Given the description of an element on the screen output the (x, y) to click on. 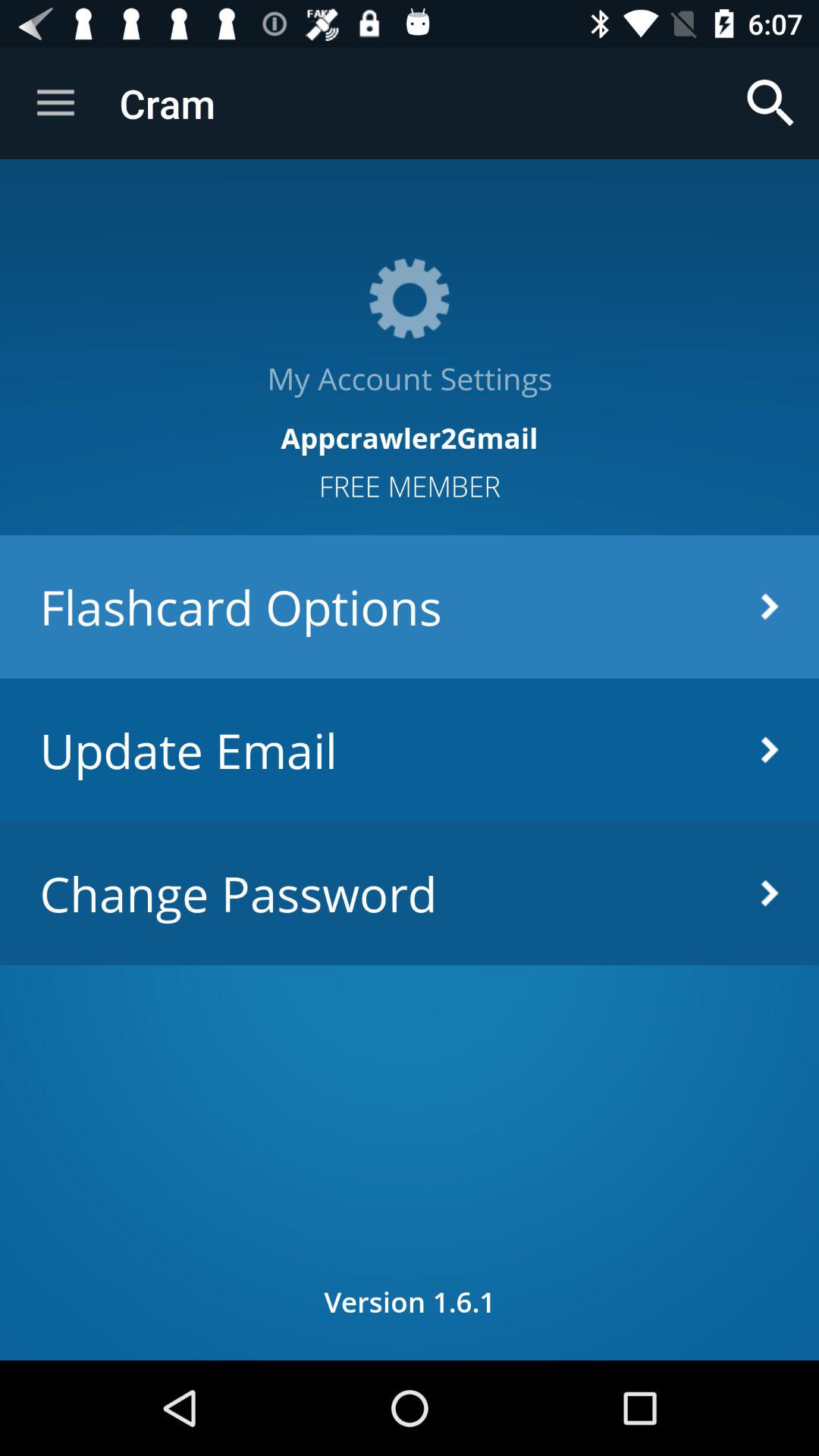
flip to flashcard options icon (409, 606)
